Given the description of an element on the screen output the (x, y) to click on. 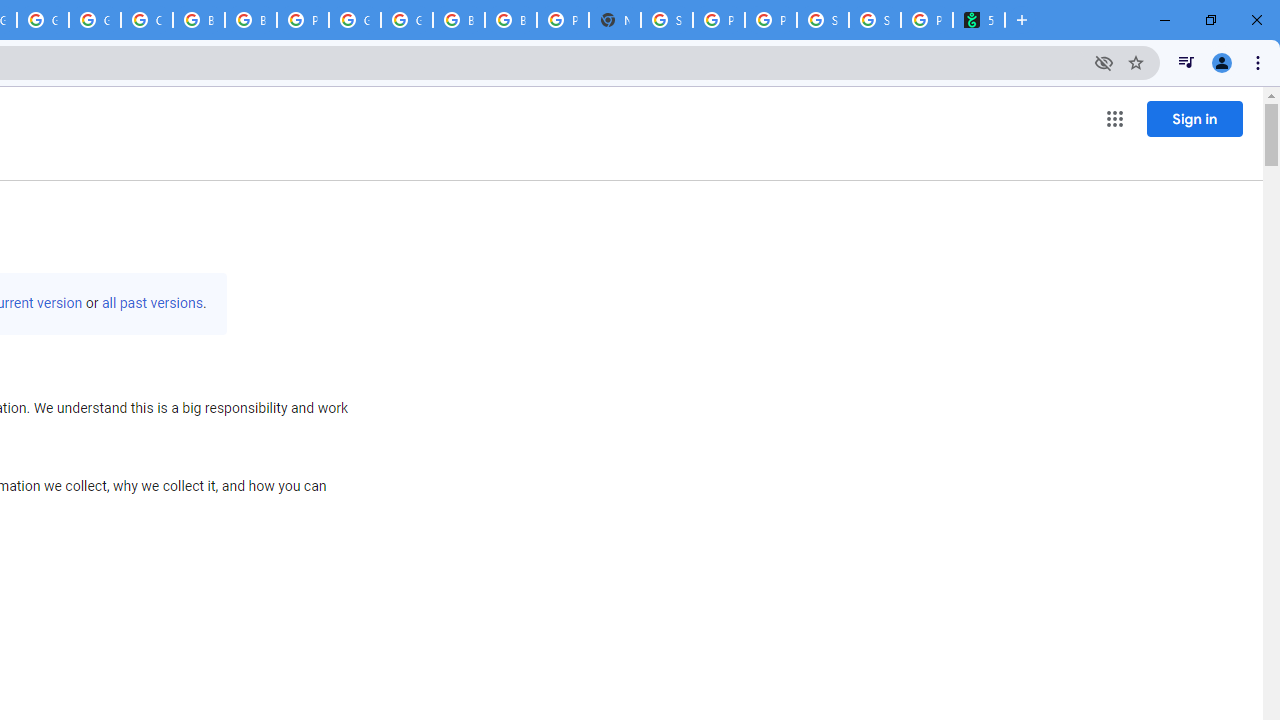
Google Cloud Platform (406, 20)
Browse Chrome as a guest - Computer - Google Chrome Help (458, 20)
